Given the description of an element on the screen output the (x, y) to click on. 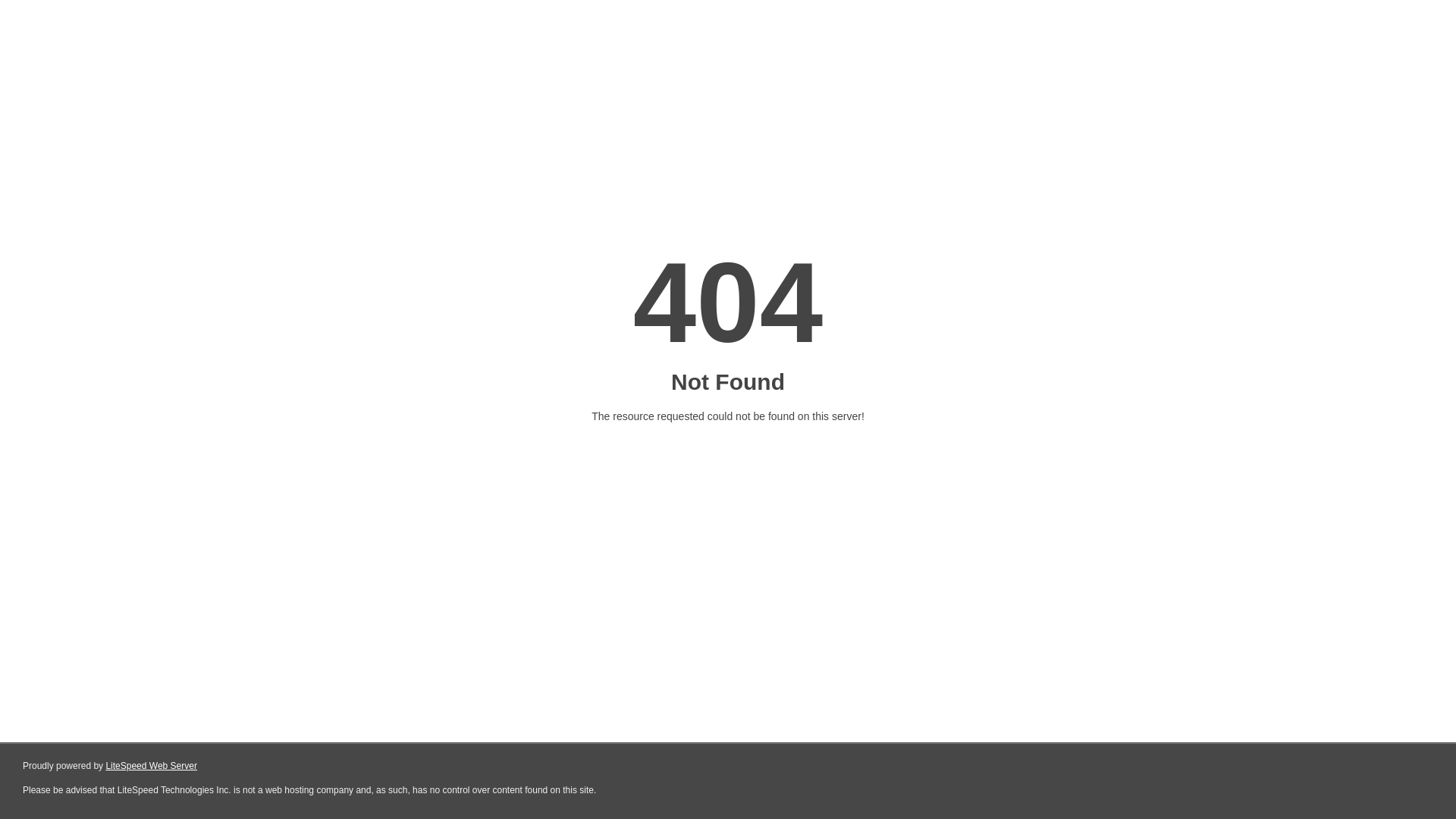
LiteSpeed Web Server Element type: text (151, 765)
